Given the description of an element on the screen output the (x, y) to click on. 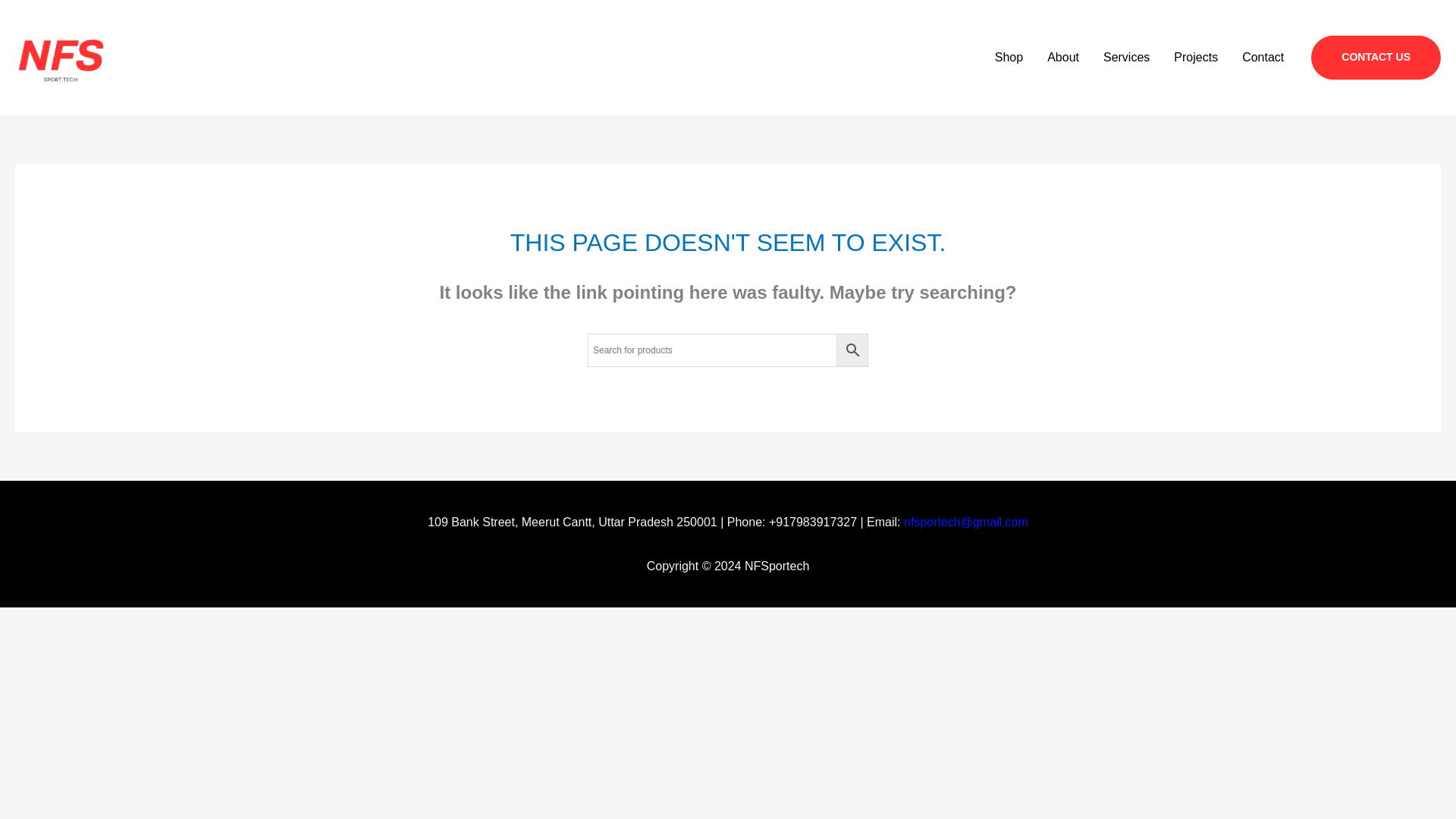
Shop (1008, 57)
Services (1125, 57)
About (1062, 57)
Contact (1262, 57)
CONTACT US (1376, 57)
Projects (1195, 57)
